Given the description of an element on the screen output the (x, y) to click on. 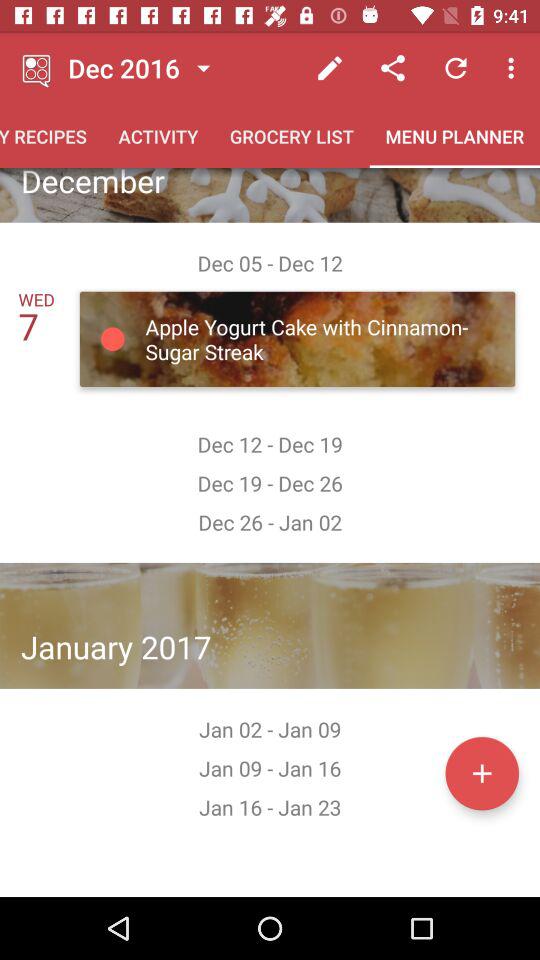
add information (482, 773)
